Given the description of an element on the screen output the (x, y) to click on. 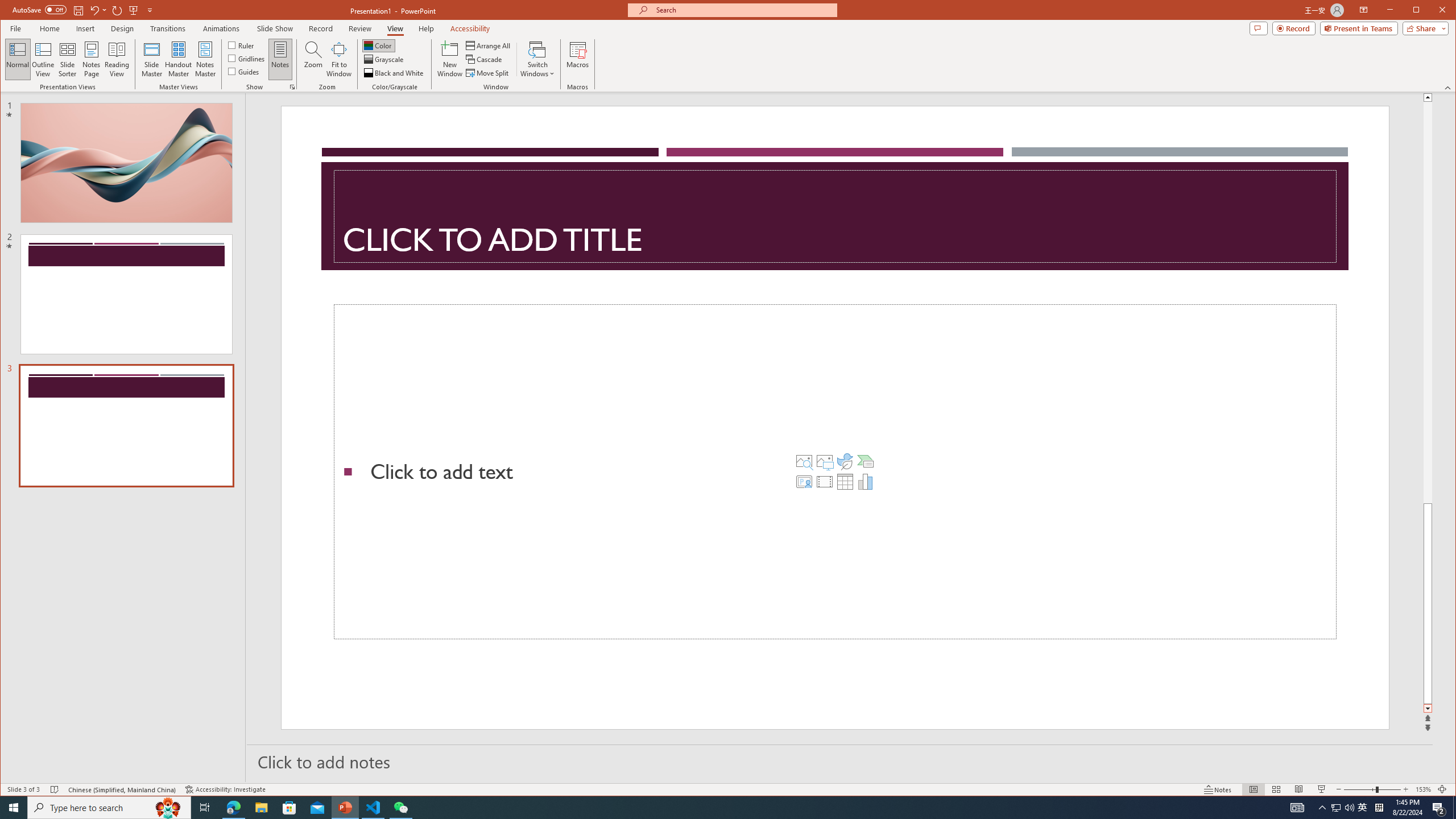
Outline View (42, 59)
Pictures (824, 461)
Insert Table (844, 481)
Zoom... (312, 59)
Running applications (707, 807)
Insert a SmartArt Graphic (865, 461)
